Given the description of an element on the screen output the (x, y) to click on. 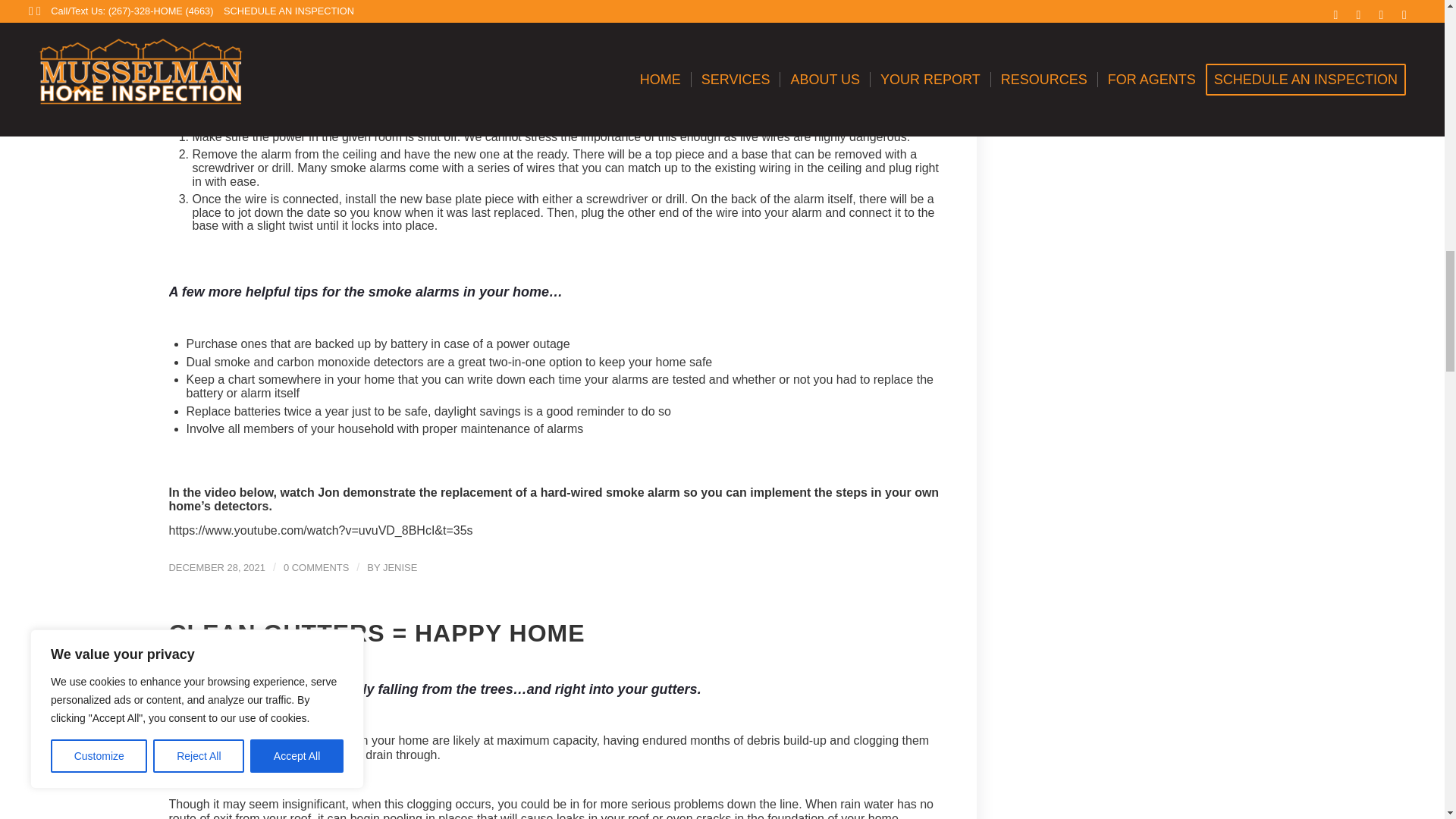
Posts by Jenise (399, 567)
